Given the description of an element on the screen output the (x, y) to click on. 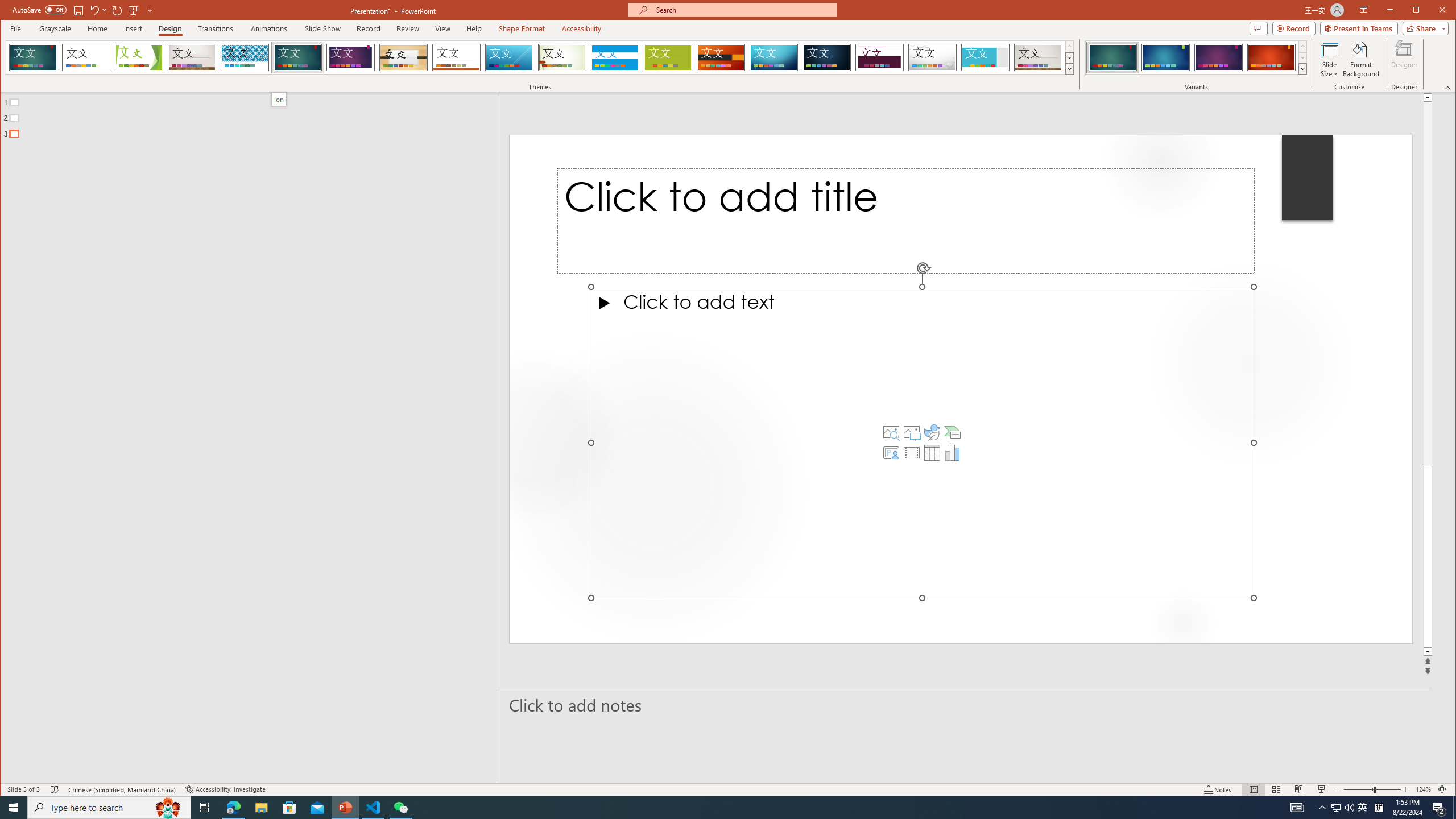
Slide Size (1328, 59)
Ion (278, 98)
AutomationID: SlideThemesGallery (540, 57)
Page up (1427, 283)
Insert Table (931, 452)
